Given the description of an element on the screen output the (x, y) to click on. 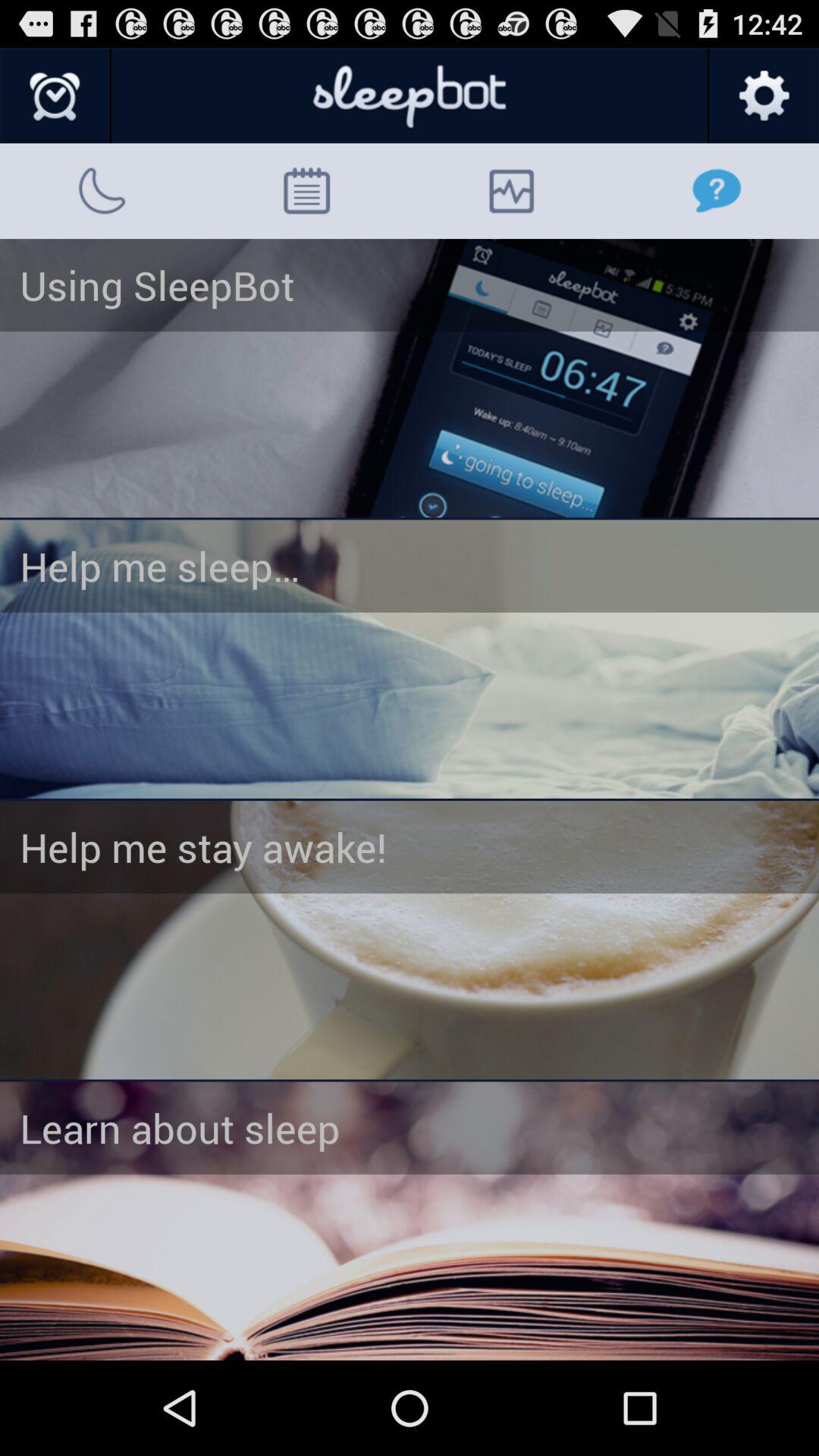
it provides learn about sleep with more information (409, 1220)
